Given the description of an element on the screen output the (x, y) to click on. 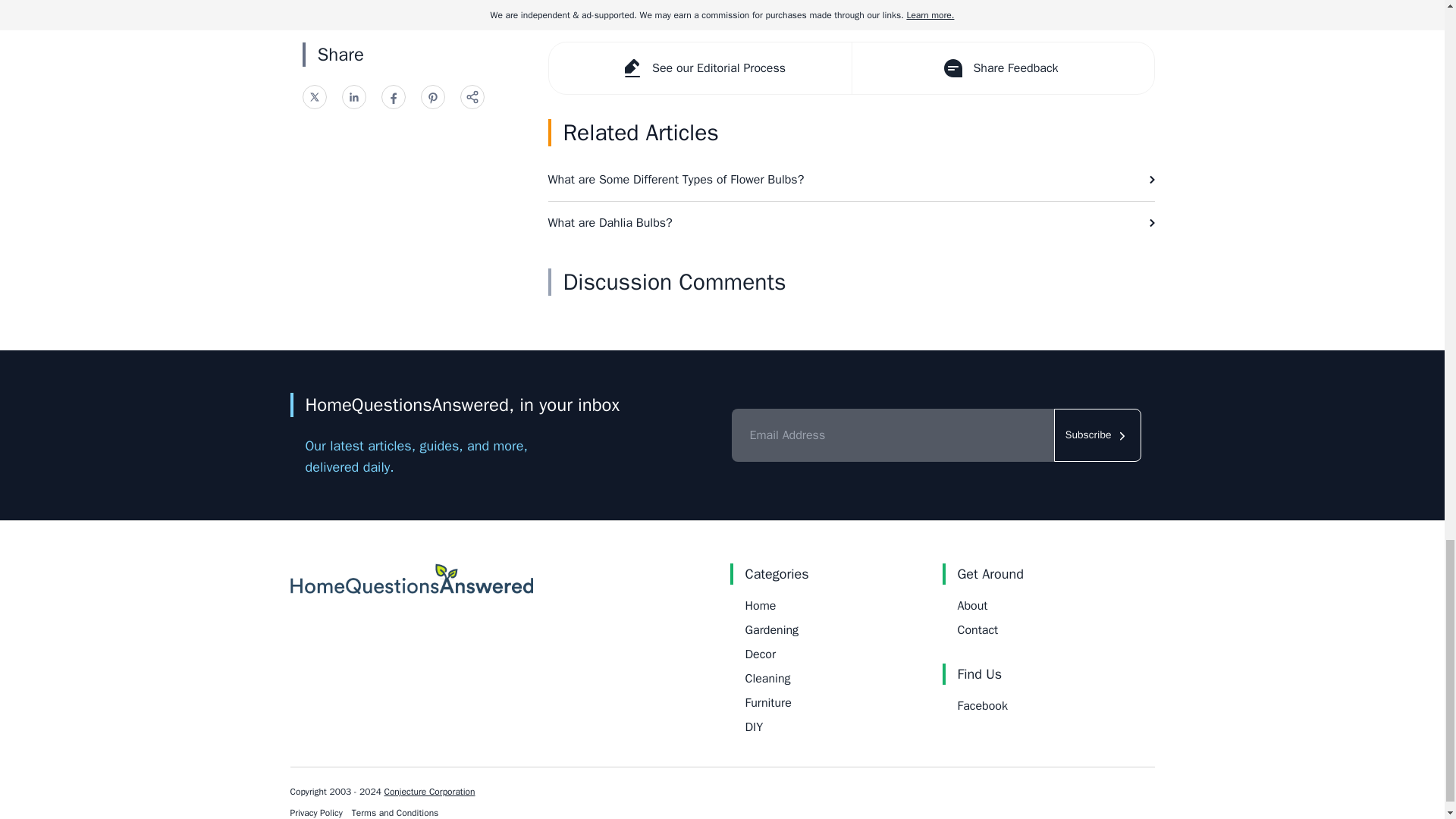
What are Dahlia Bulbs? (850, 222)
What are Some Different Types of Flower Bulbs? (850, 179)
See our Editorial Process (699, 68)
Share Feedback (1001, 68)
